Given the description of an element on the screen output the (x, y) to click on. 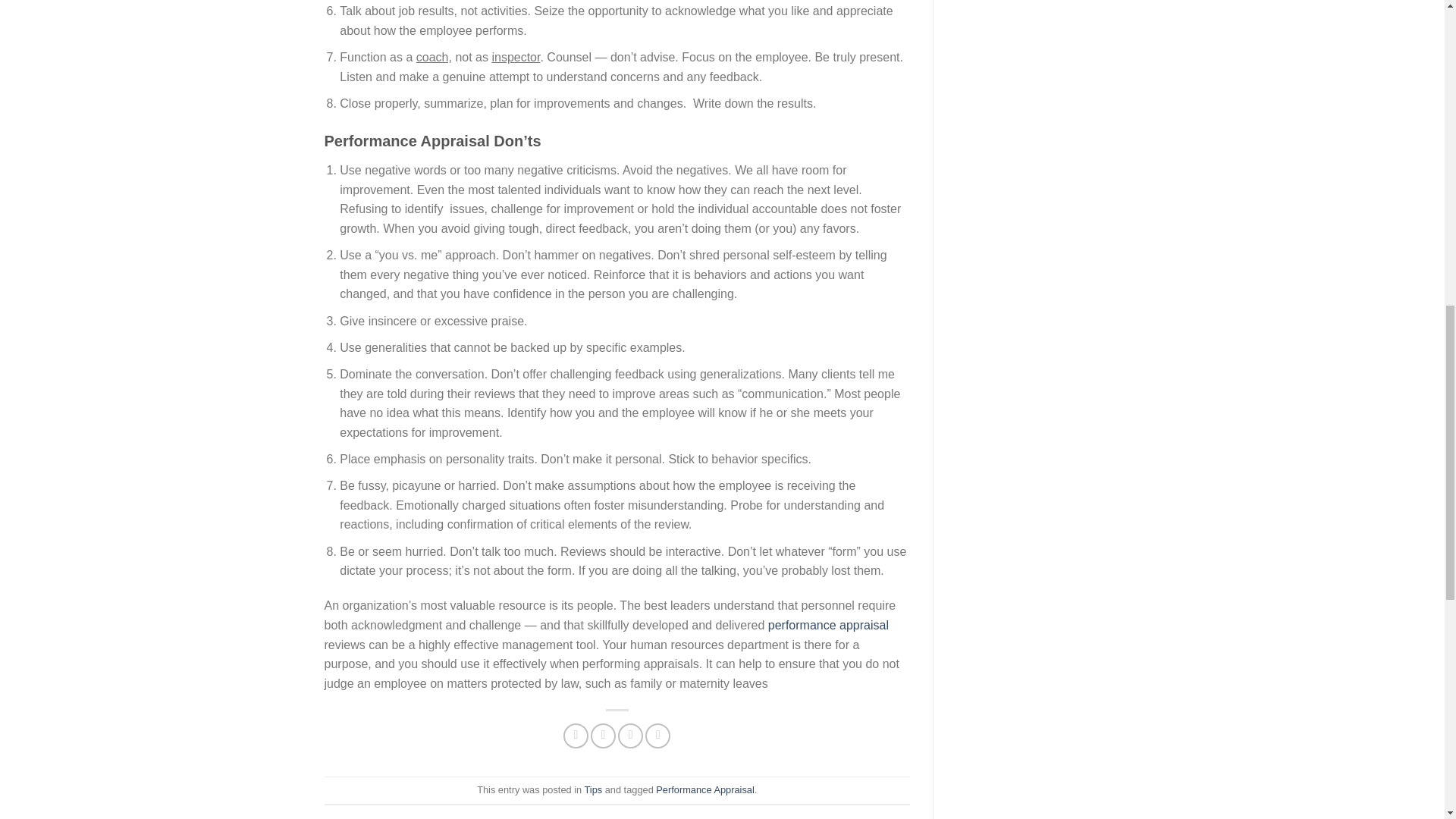
Share on Twitter (603, 735)
Pin on Pinterest (657, 735)
Share on Facebook (575, 735)
Email to a Friend (630, 735)
Performance Appraisal (828, 625)
